Given the description of an element on the screen output the (x, y) to click on. 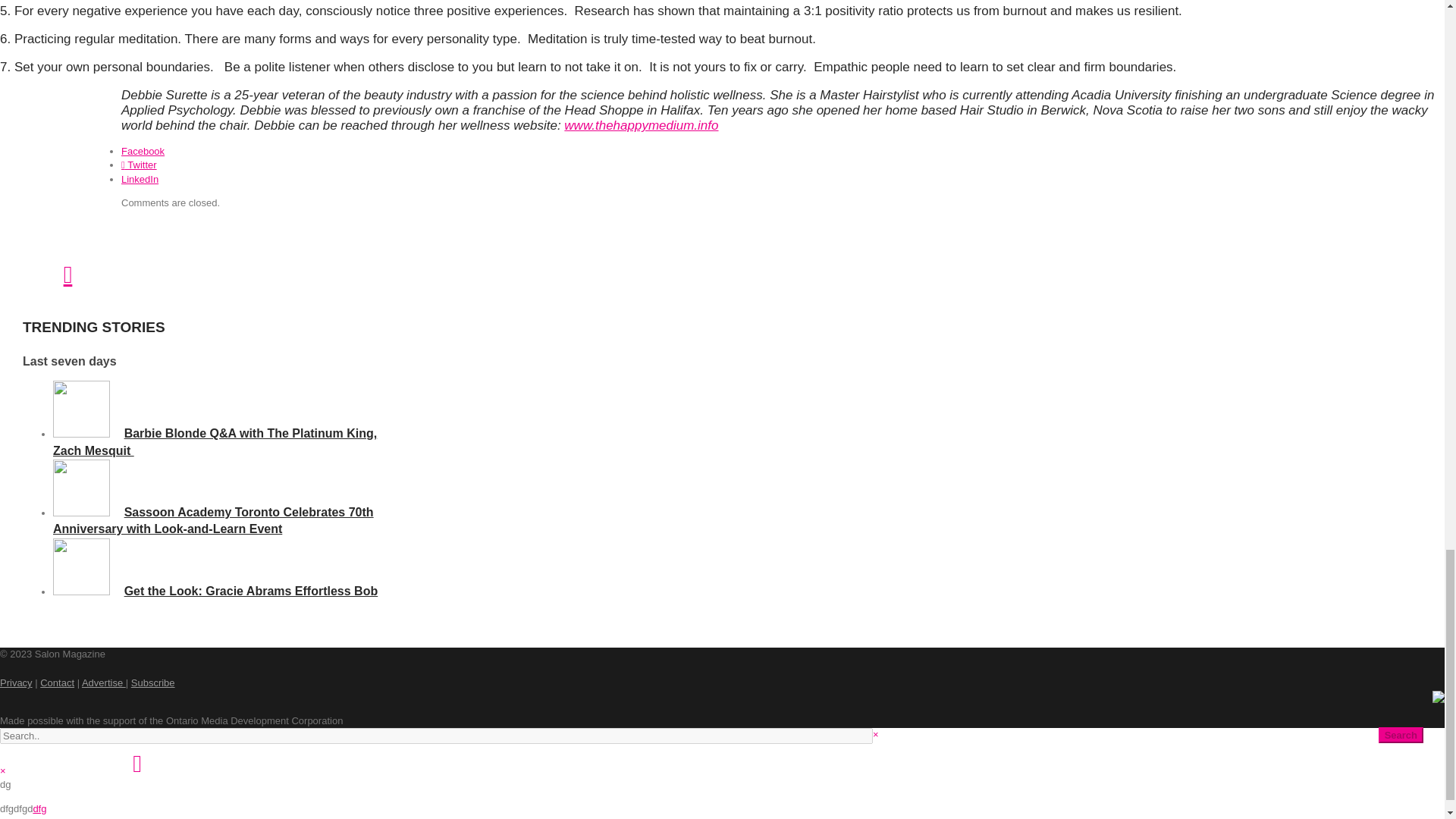
Share via Facebook (142, 151)
Share via LinkedIn (139, 179)
Share via Twitter (138, 164)
